Given the description of an element on the screen output the (x, y) to click on. 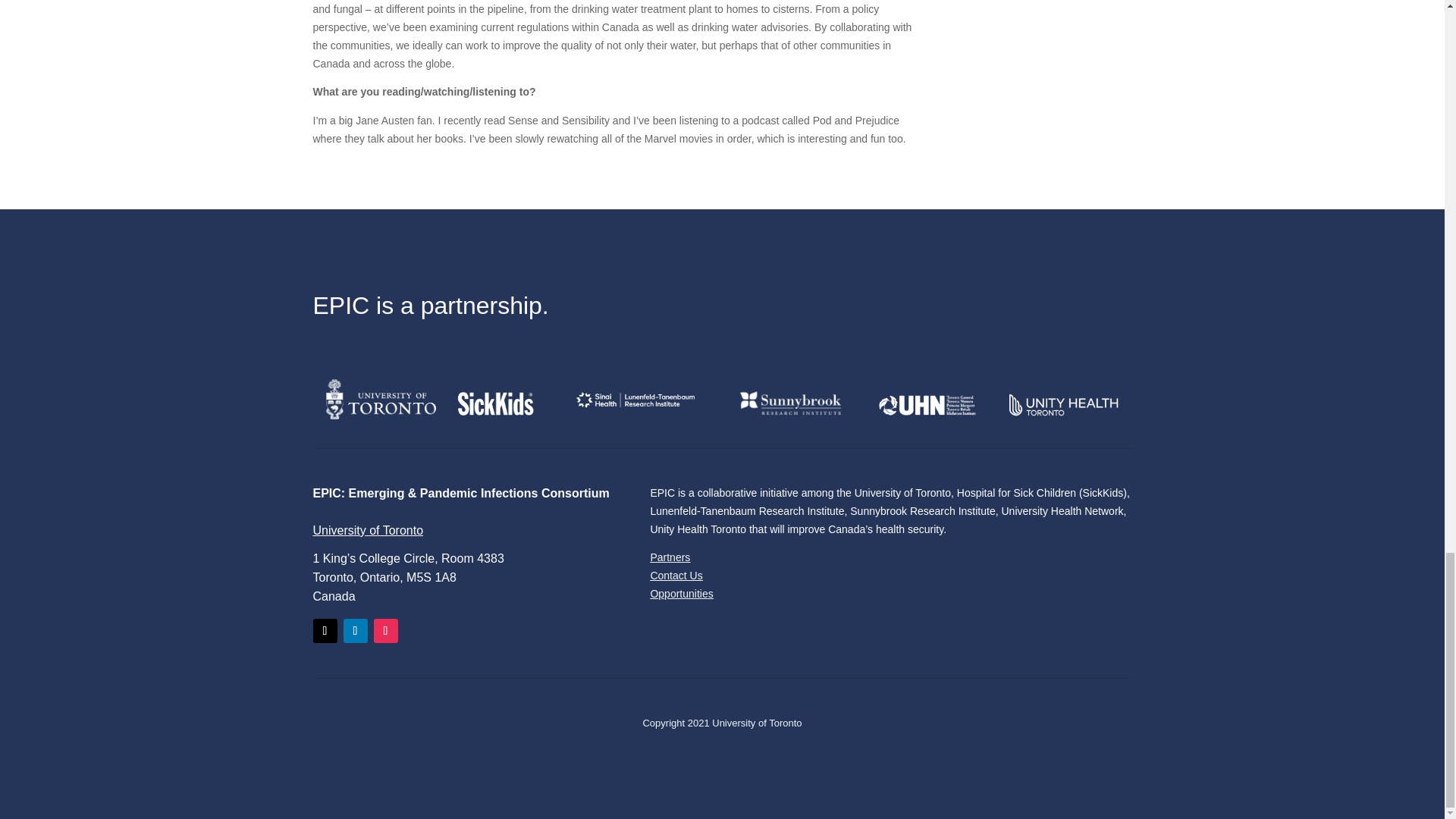
UofT (381, 399)
UHN (926, 404)
sunnybrook (790, 402)
